Given the description of an element on the screen output the (x, y) to click on. 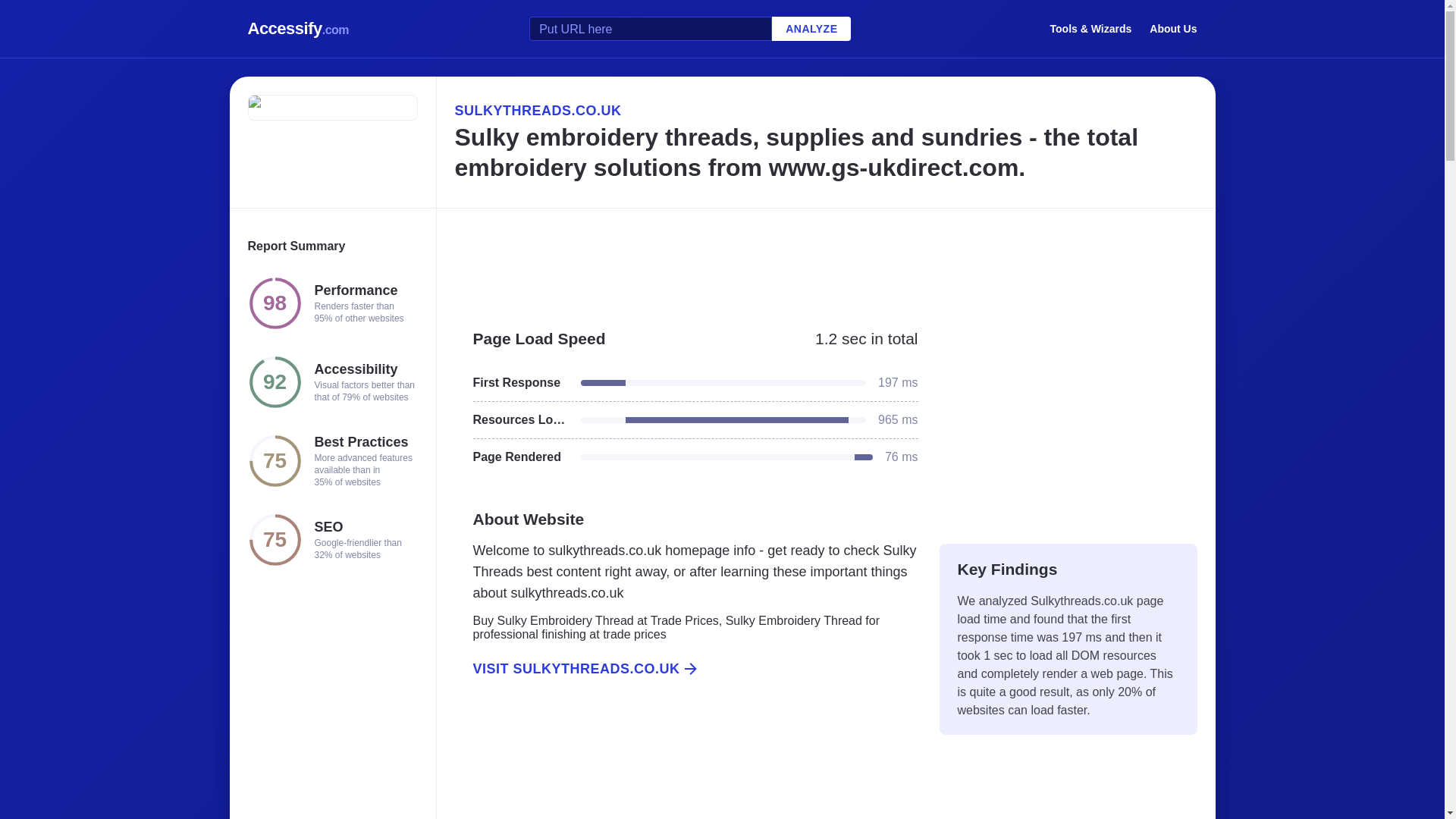
SULKYTHREADS.CO.UK (825, 110)
VISIT SULKYTHREADS.CO.UK (686, 669)
About Us (1173, 28)
ANALYZE (810, 28)
Accessify.com (298, 28)
